Given the description of an element on the screen output the (x, y) to click on. 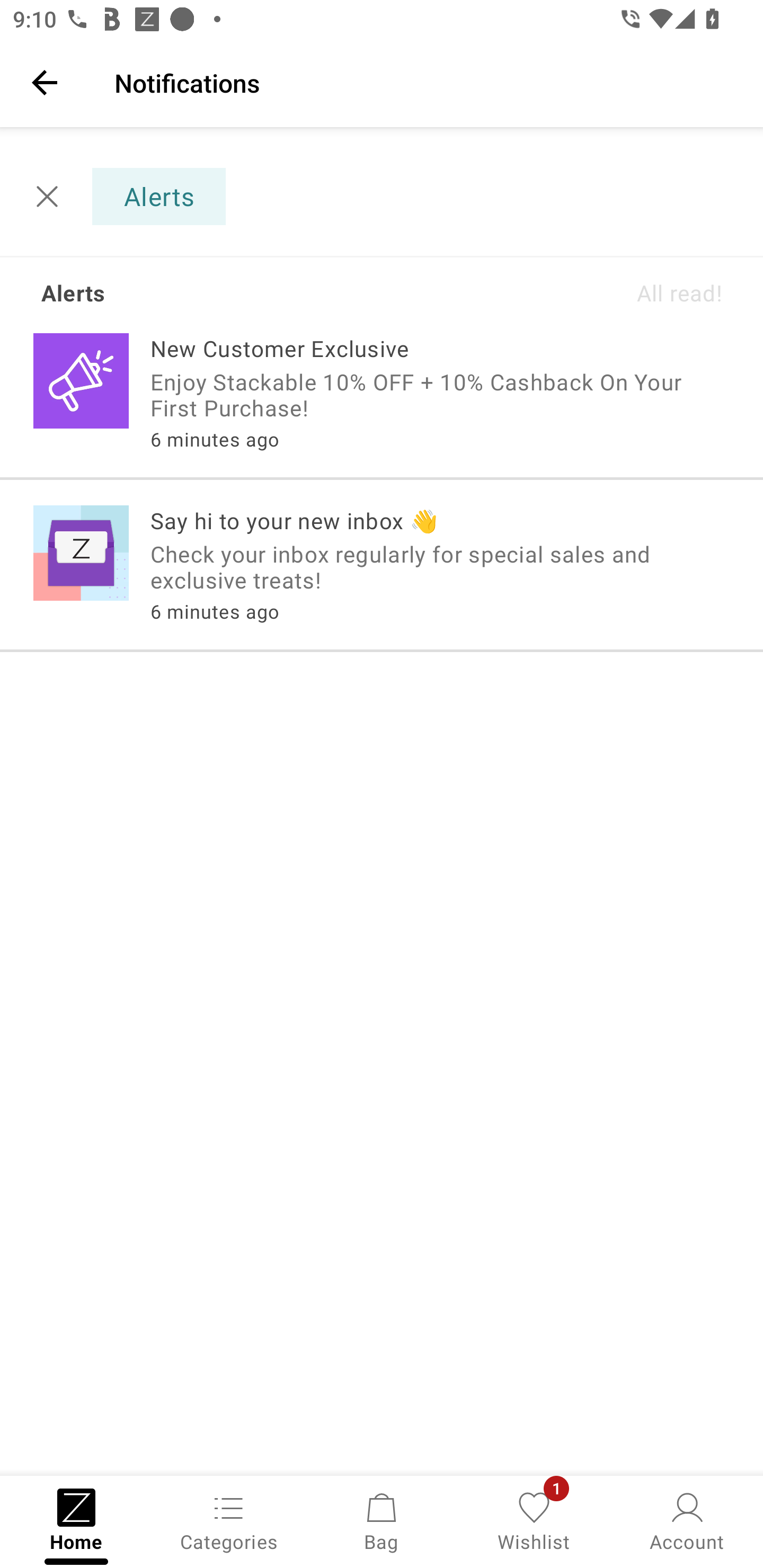
Navigate up (44, 82)
Notifications (426, 82)
Alerts (128, 196)
Categories (228, 1519)
Bag (381, 1519)
Wishlist, 1 new notification Wishlist (533, 1519)
Account (686, 1519)
